Given the description of an element on the screen output the (x, y) to click on. 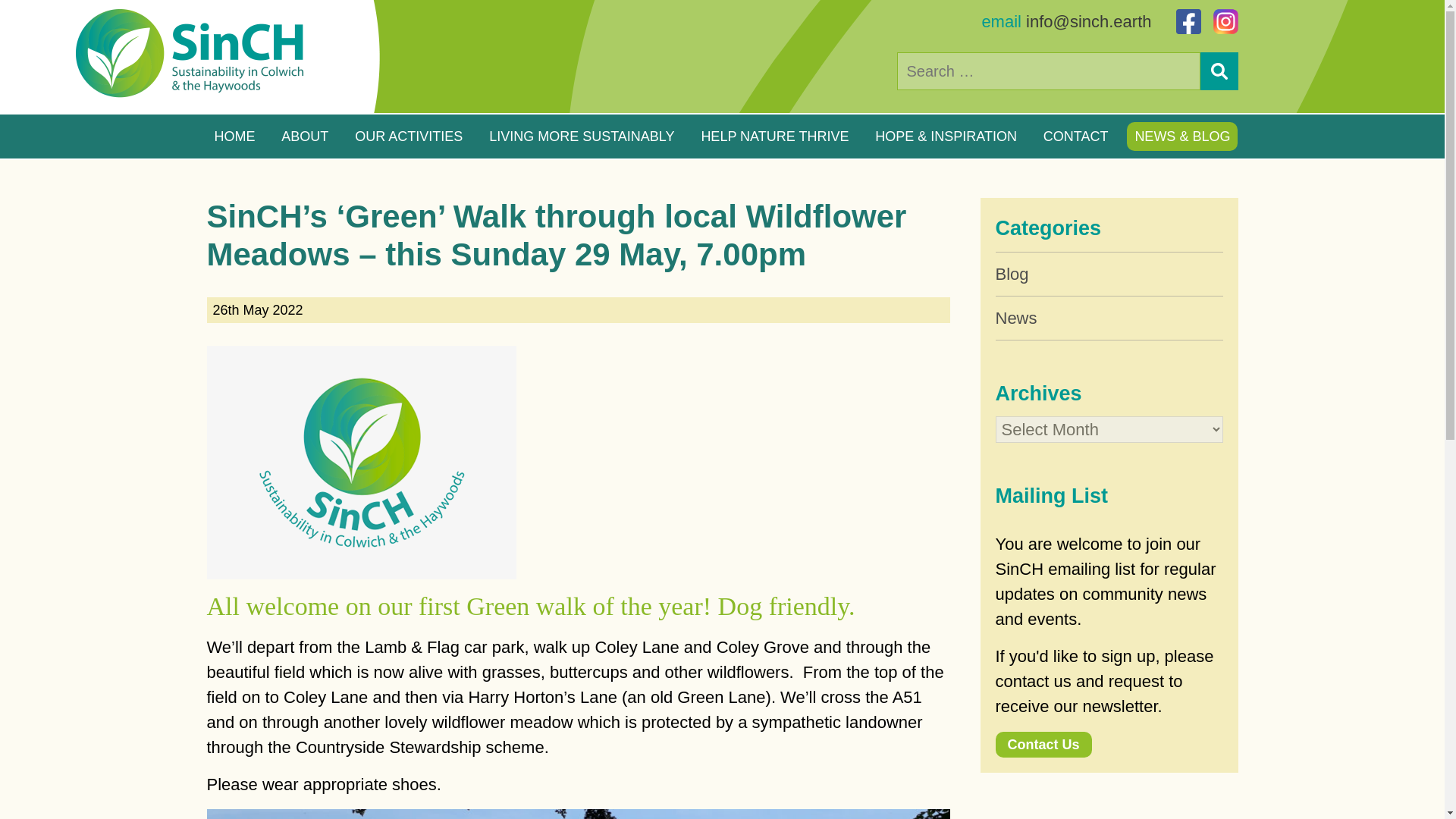
Blog (1108, 272)
Contact Us (1042, 743)
ABOUT (304, 136)
HOME (234, 136)
Search (1218, 71)
CONTACT (1075, 136)
OUR ACTIVITIES (408, 136)
LIVING MORE SUSTAINABLY (581, 136)
Search (1218, 71)
News (1108, 317)
